Given the description of an element on the screen output the (x, y) to click on. 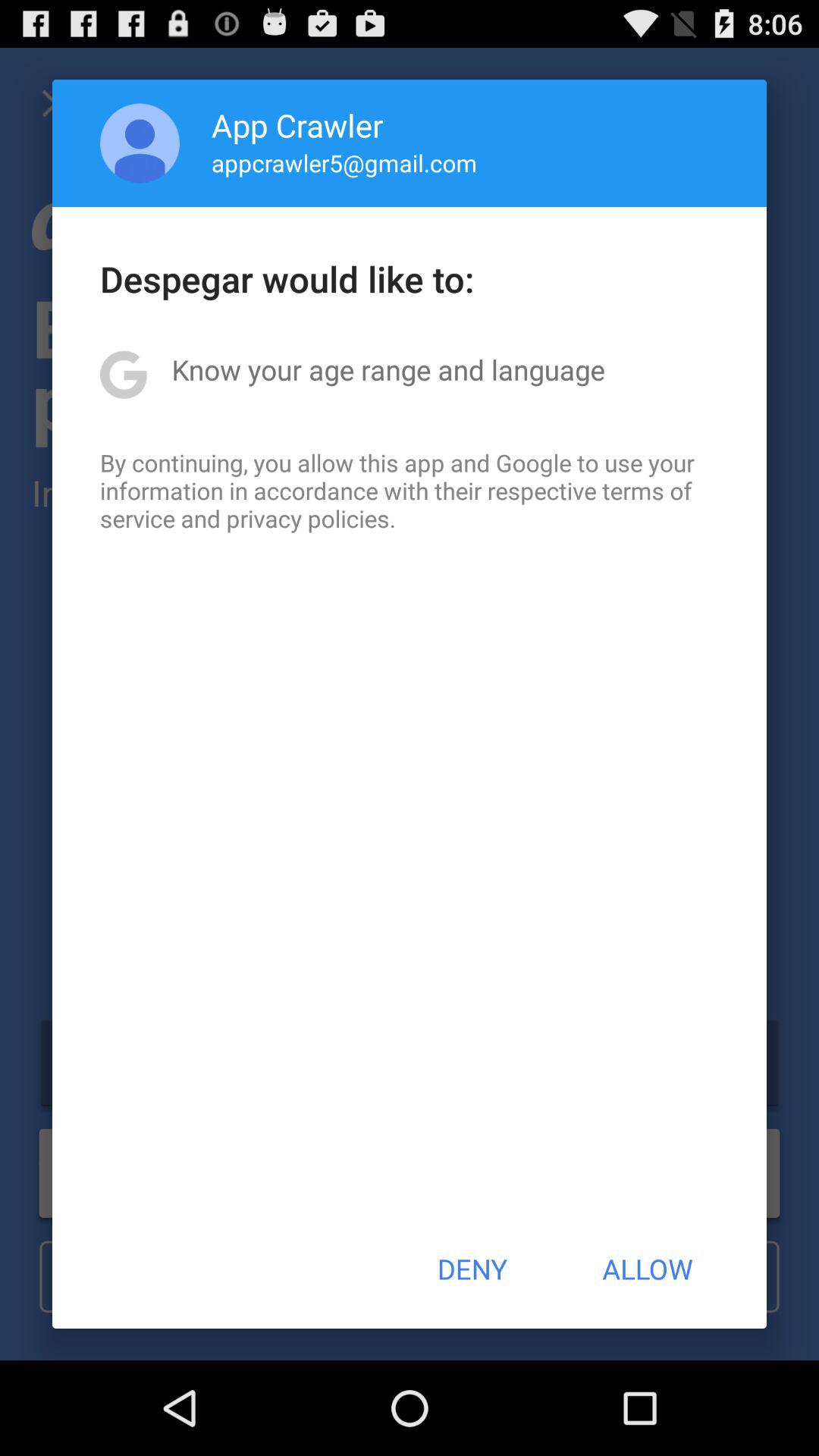
tap app below the by continuing you item (471, 1268)
